Given the description of an element on the screen output the (x, y) to click on. 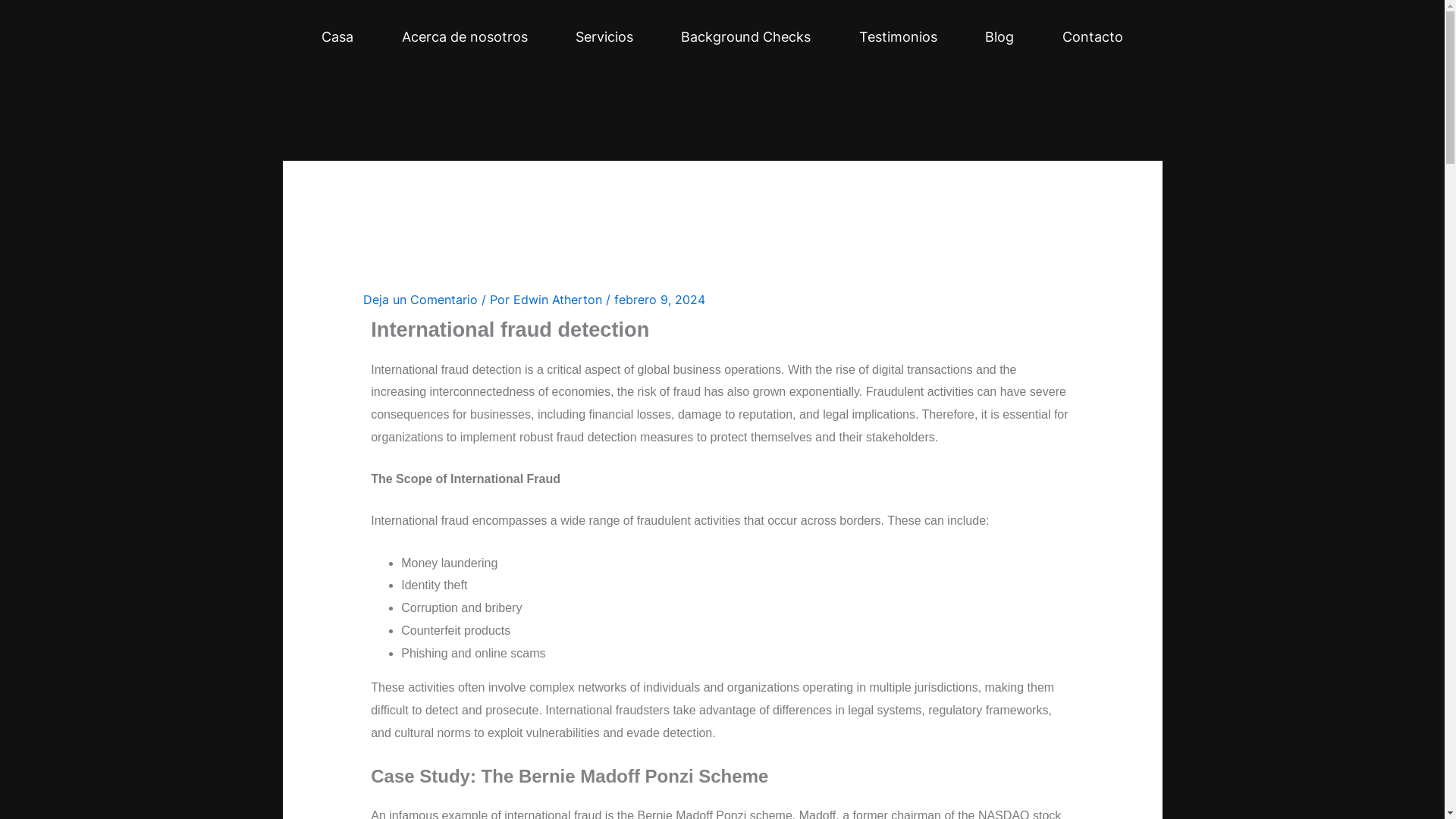
Casa (337, 36)
Deja un Comentario (419, 299)
Background Checks (746, 36)
Servicios (603, 36)
Acerca de nosotros (464, 36)
Contacto (1092, 36)
Edwin Atherton (559, 299)
Testimonios (897, 36)
Ver todos los mensajes por Edwin Atherton (559, 299)
Blog (999, 36)
